Given the description of an element on the screen output the (x, y) to click on. 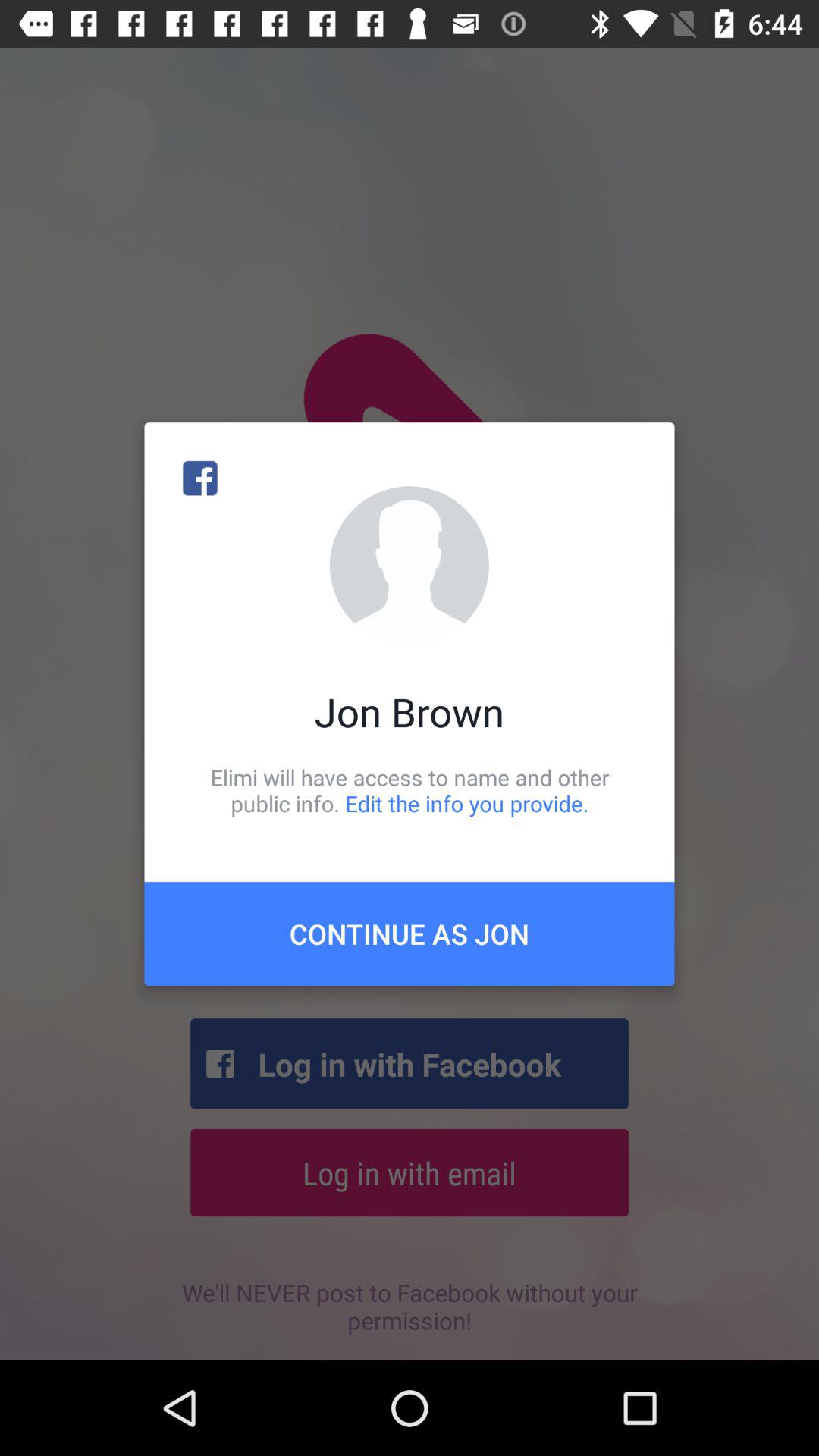
jump to the continue as jon icon (409, 933)
